Given the description of an element on the screen output the (x, y) to click on. 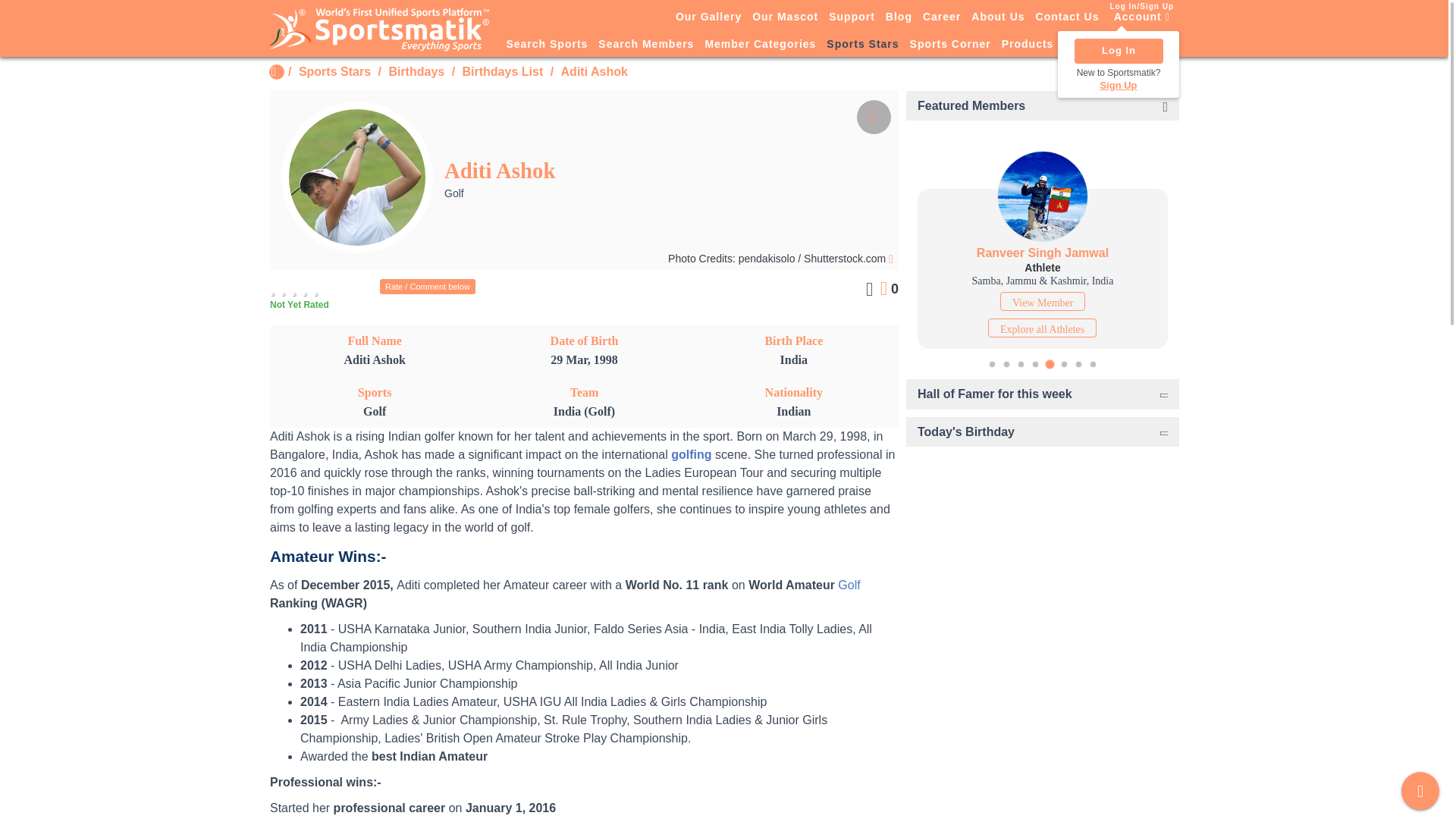
Sign Up (1118, 85)
Our Mascot (785, 15)
Search Sports (546, 44)
Search Members (645, 44)
Career (941, 15)
Blog (898, 15)
Birthdays (416, 71)
Products (1027, 44)
Sports Corner (949, 44)
Sports Stars (334, 71)
Member Categories (759, 44)
Birthdays List (503, 71)
Our Gallery (707, 15)
Support (852, 15)
Sports Jobs (1098, 44)
